Given the description of an element on the screen output the (x, y) to click on. 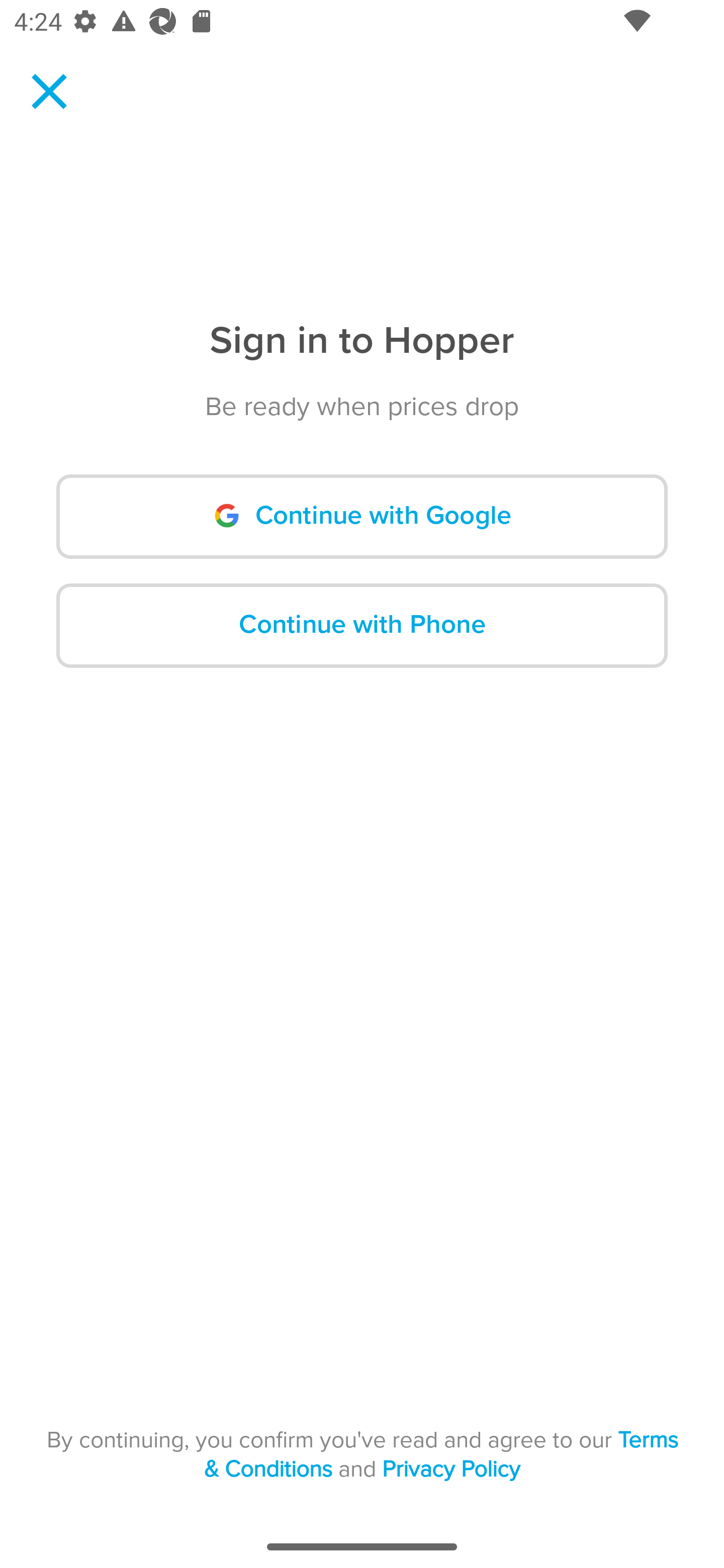
Navigate up (49, 91)
‍ Continue with Google (361, 516)
‍Continue with Phone (361, 625)
